Given the description of an element on the screen output the (x, y) to click on. 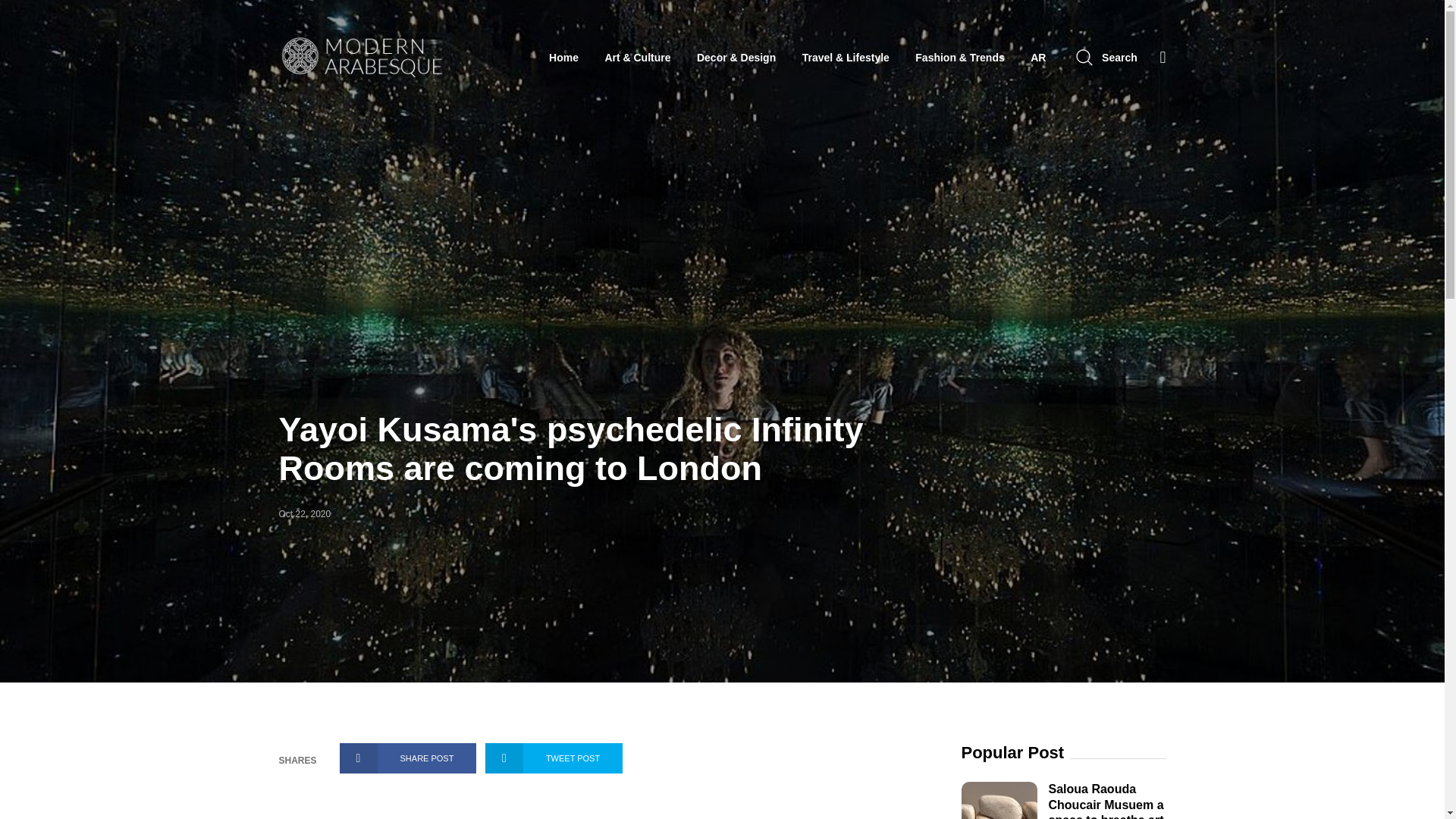
SHARE POST (408, 757)
Home (563, 57)
AR (1038, 57)
TWEET POST (553, 757)
